Given the description of an element on the screen output the (x, y) to click on. 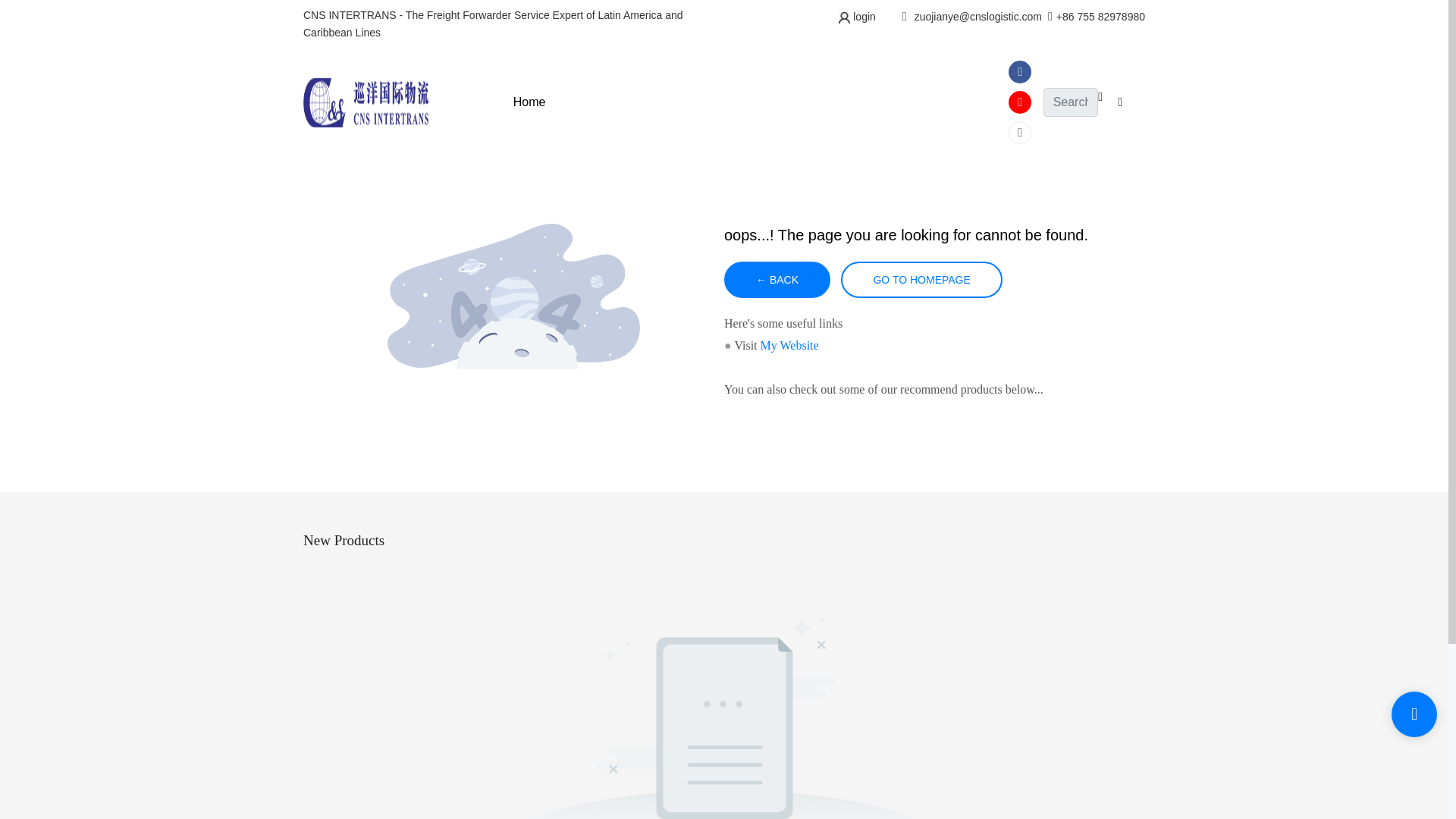
Home (529, 102)
 login (862, 16)
My Website (789, 345)
GO TO HOMEPAGE (921, 279)
